Given the description of an element on the screen output the (x, y) to click on. 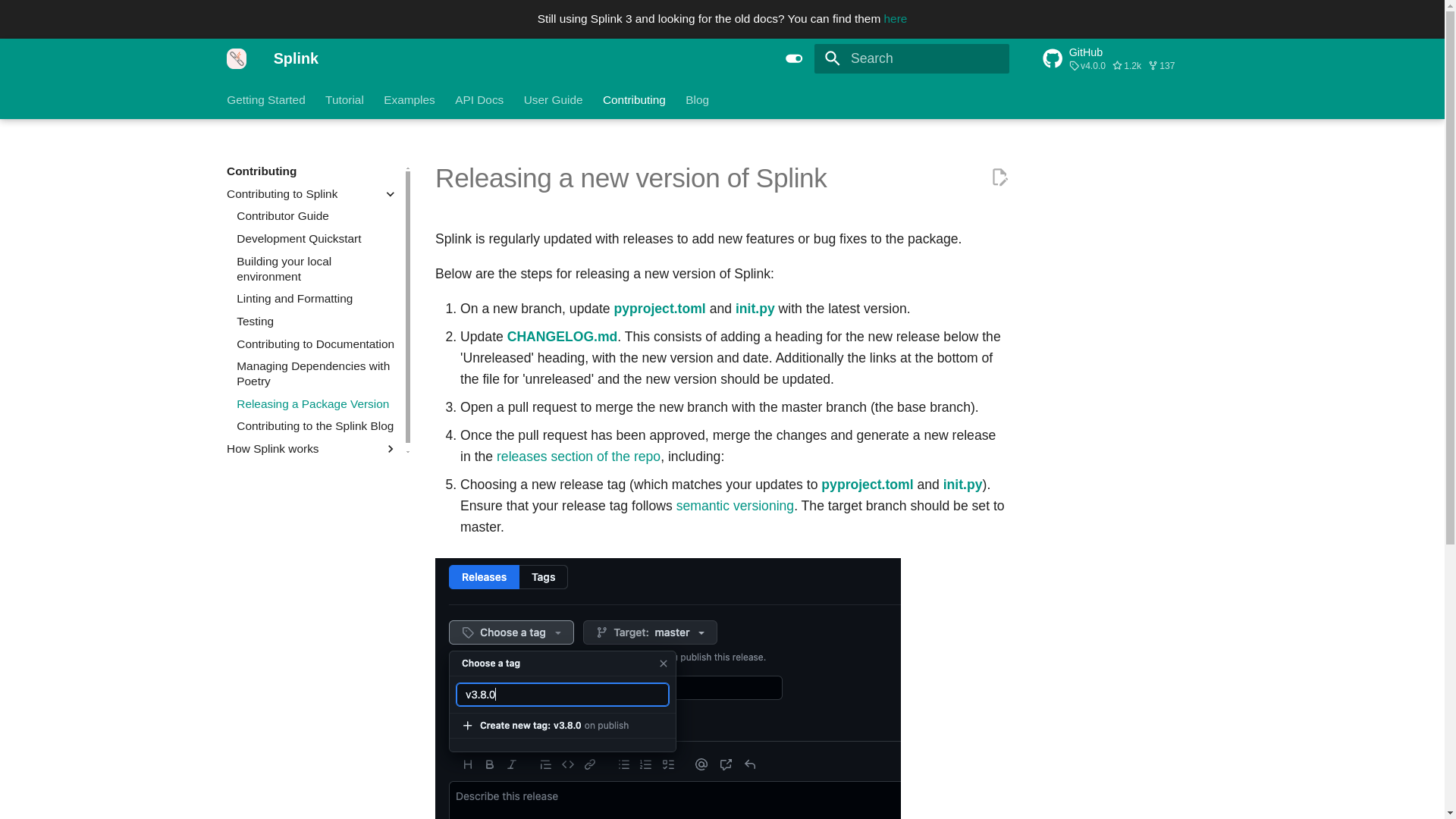
Switch to dark mode (793, 58)
Go to repository (1129, 58)
Examples (409, 99)
Splink (236, 58)
Contributing (633, 99)
here (895, 18)
User Guide (553, 99)
Edit this page (999, 177)
API Docs (478, 99)
Getting Started (266, 99)
